Given the description of an element on the screen output the (x, y) to click on. 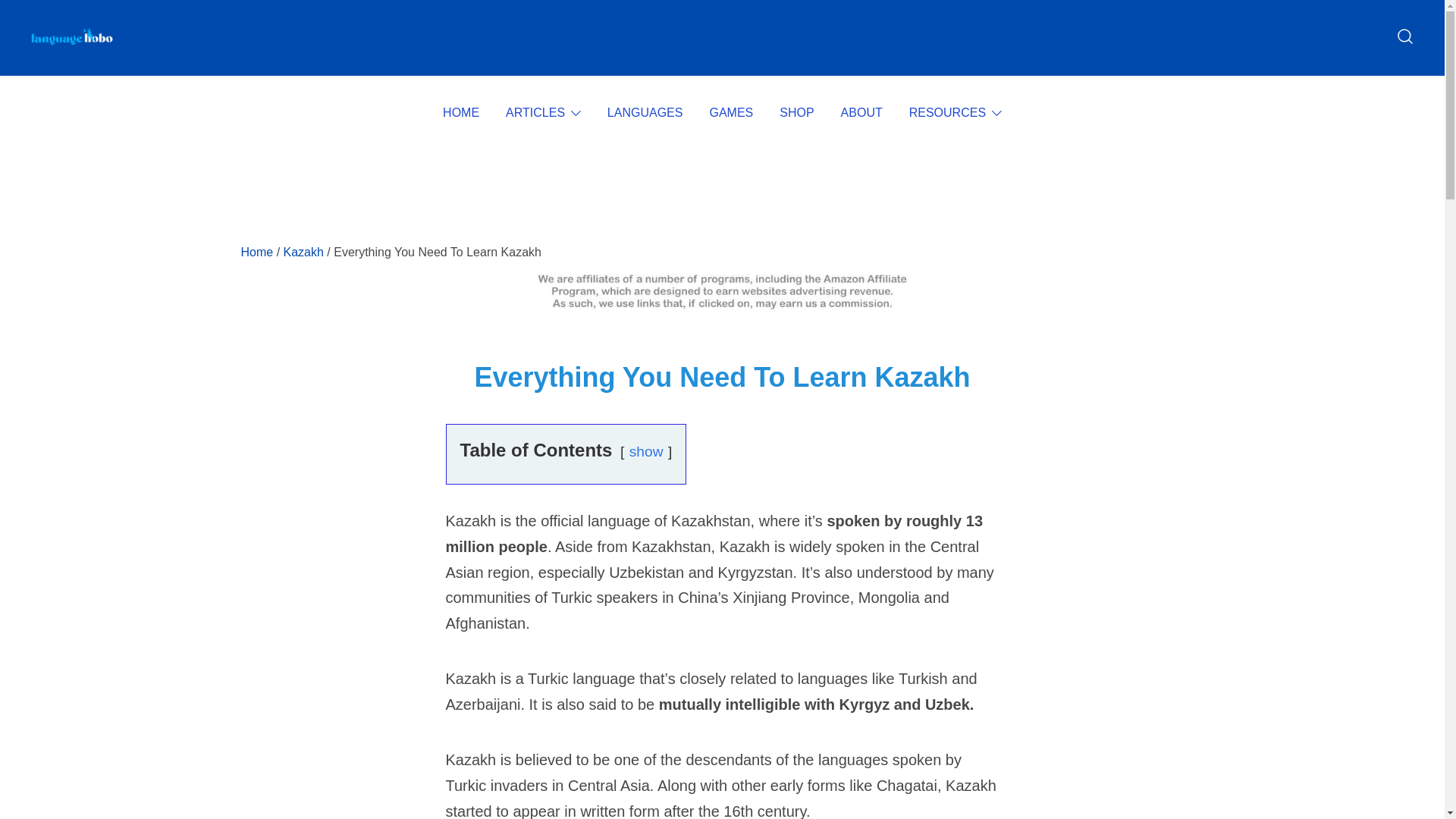
Search for a product (1404, 37)
GAMES (730, 113)
ABOUT (861, 113)
ARTICLES (534, 113)
Language Hobo (87, 68)
SHOP (795, 113)
RESOURCES (946, 113)
LANGUAGES (644, 113)
HOME (460, 113)
